Given the description of an element on the screen output the (x, y) to click on. 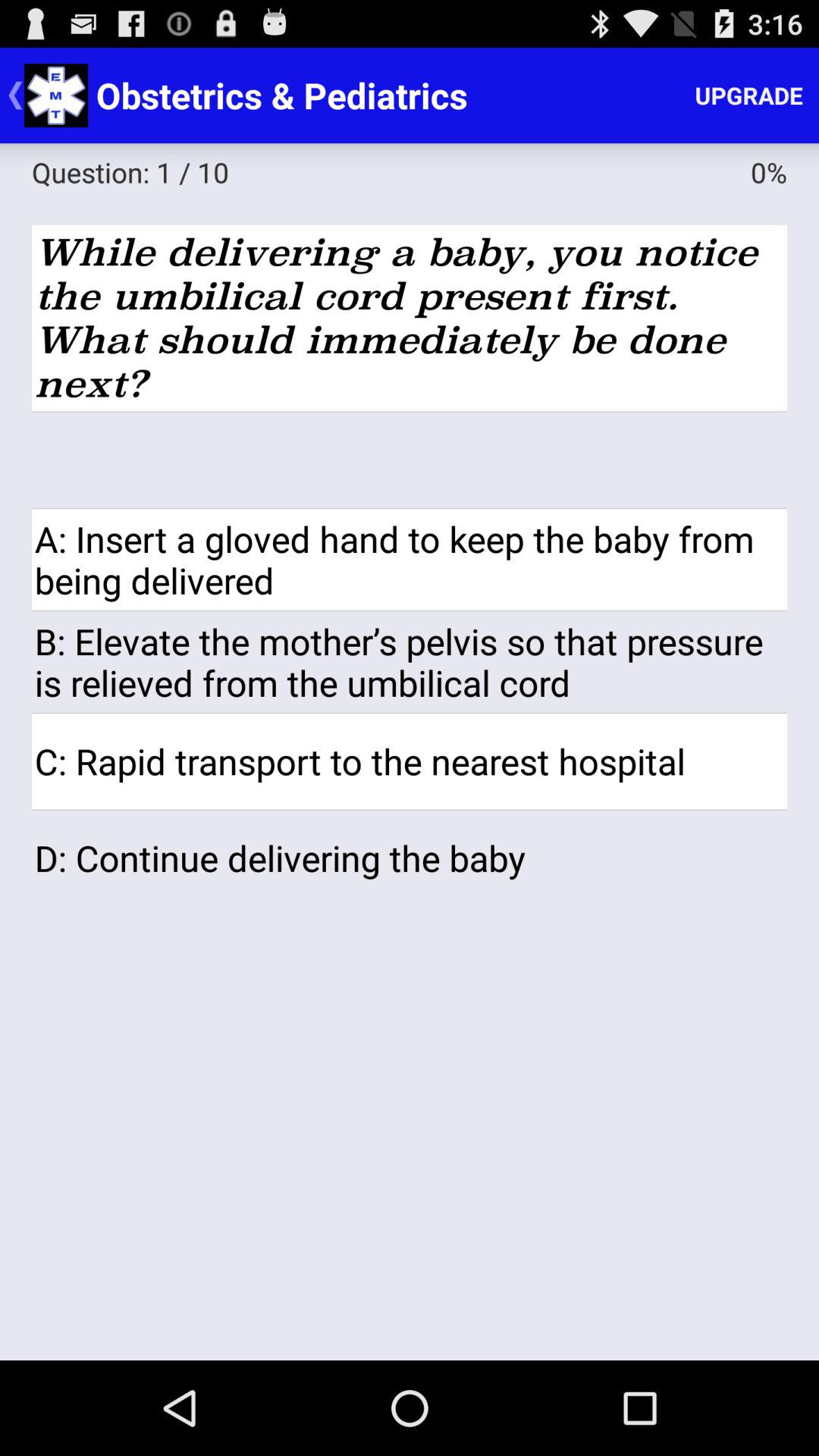
jump until the d continue delivering app (409, 858)
